Given the description of an element on the screen output the (x, y) to click on. 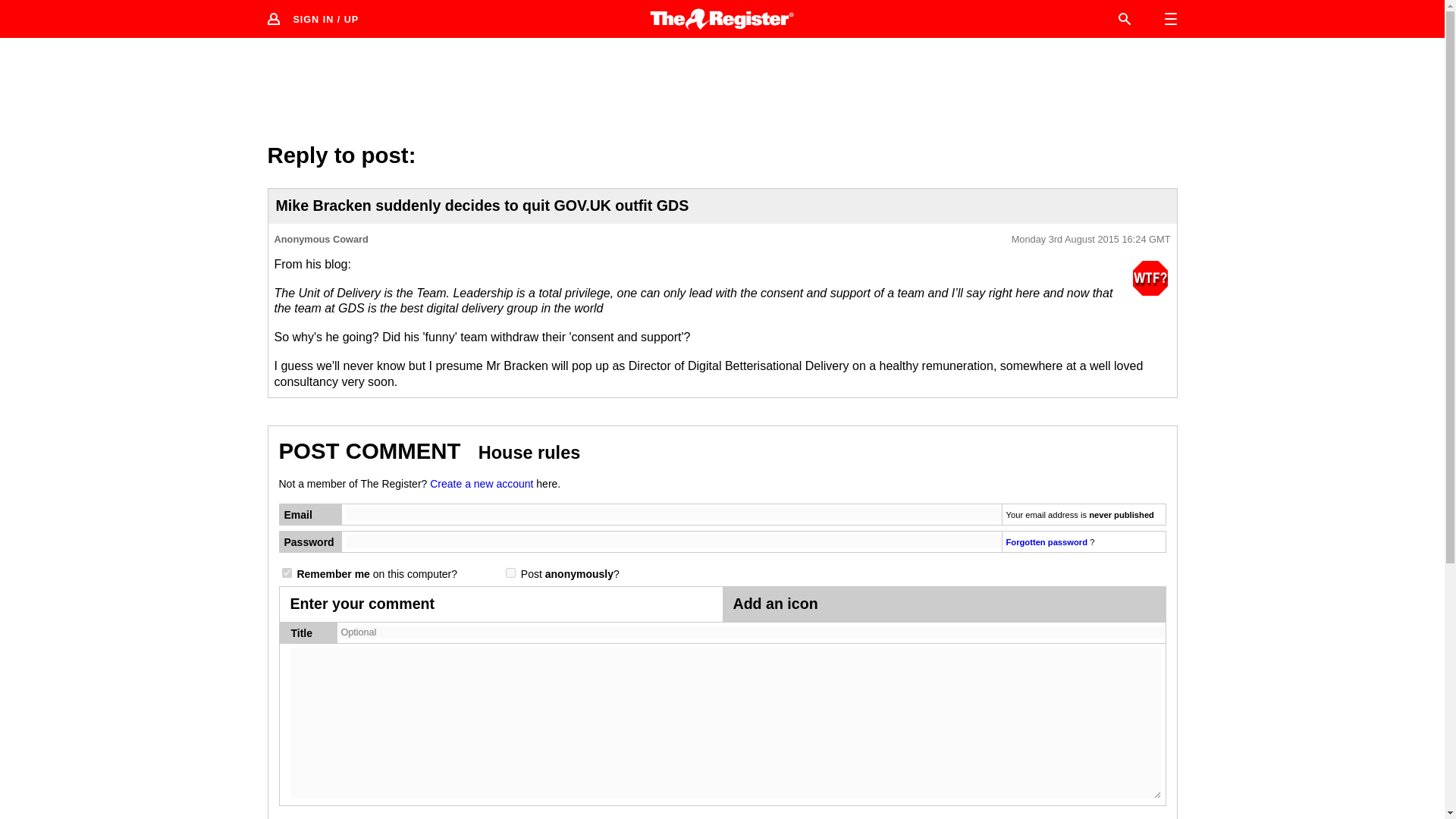
Permalink to this post (1090, 239)
WTF is all this about, eh? (1149, 277)
1 (510, 573)
1 (287, 573)
